Given the description of an element on the screen output the (x, y) to click on. 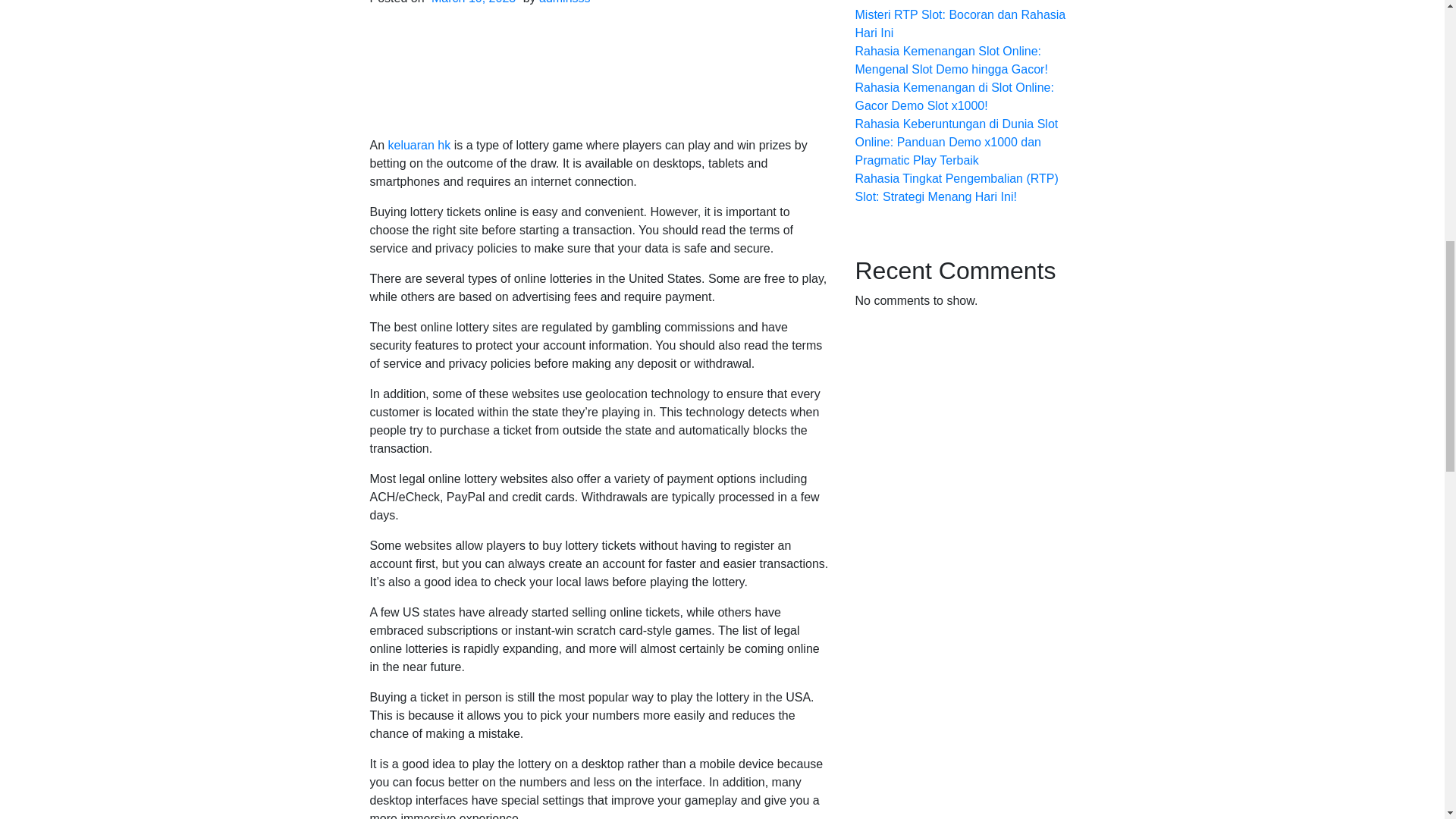
March 10, 2023 (473, 2)
adminsss (564, 2)
keluaran hk (419, 144)
